Given the description of an element on the screen output the (x, y) to click on. 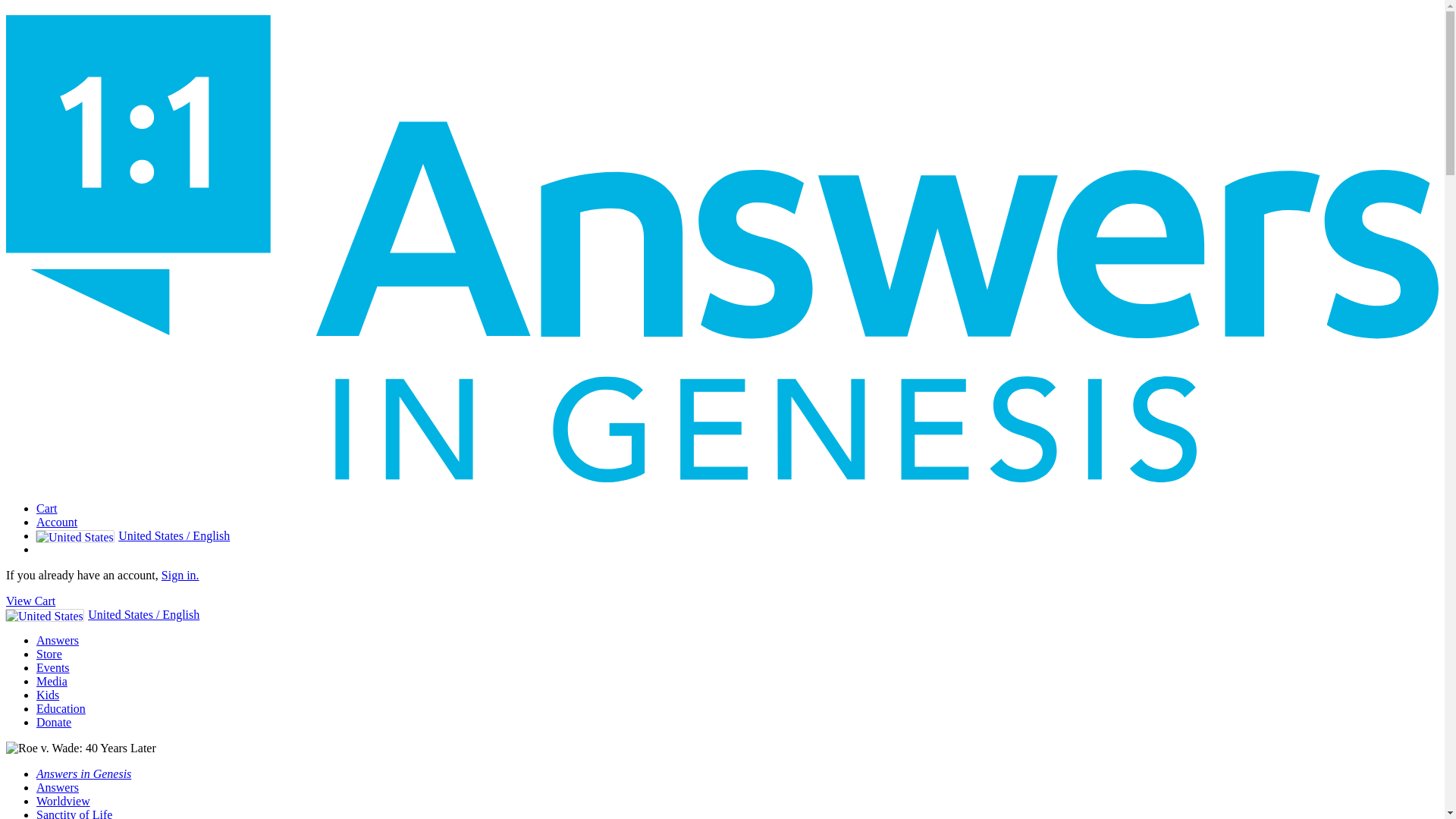
Cart (47, 508)
Education (60, 707)
Sign in. (180, 574)
Sanctity of Life (74, 813)
Account (56, 521)
Answers in Genesis (83, 773)
Answers (57, 640)
Store (49, 653)
Answers (57, 787)
Donate (53, 721)
Worldview (63, 800)
Kids (47, 694)
Media (51, 680)
Store (49, 653)
View Cart (30, 600)
